Given the description of an element on the screen output the (x, y) to click on. 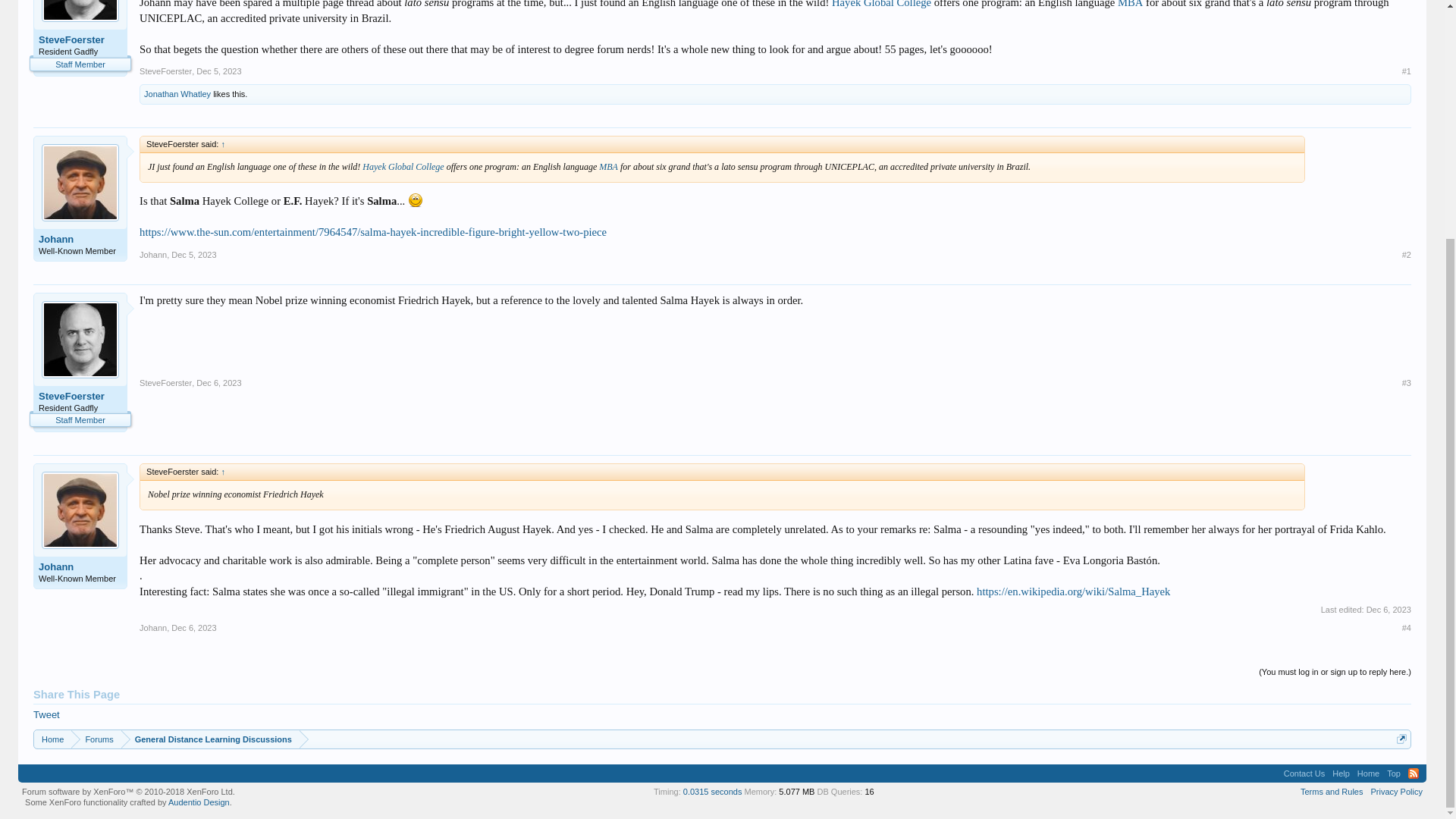
Dec 6, 2023 (218, 382)
SteveFoerster (80, 39)
Hayek Global College (402, 166)
Jonathan Whatley (177, 93)
MBA (608, 166)
Johann (153, 627)
Permalink (193, 627)
Permalink (218, 71)
Johann (80, 567)
SteveFoerster (80, 396)
Dec 5, 2023 (193, 254)
Dec 6, 2023 at 3:49 AM (1388, 609)
Johann (80, 239)
Permalink (193, 254)
Dec 6, 2023 (193, 627)
